Given the description of an element on the screen output the (x, y) to click on. 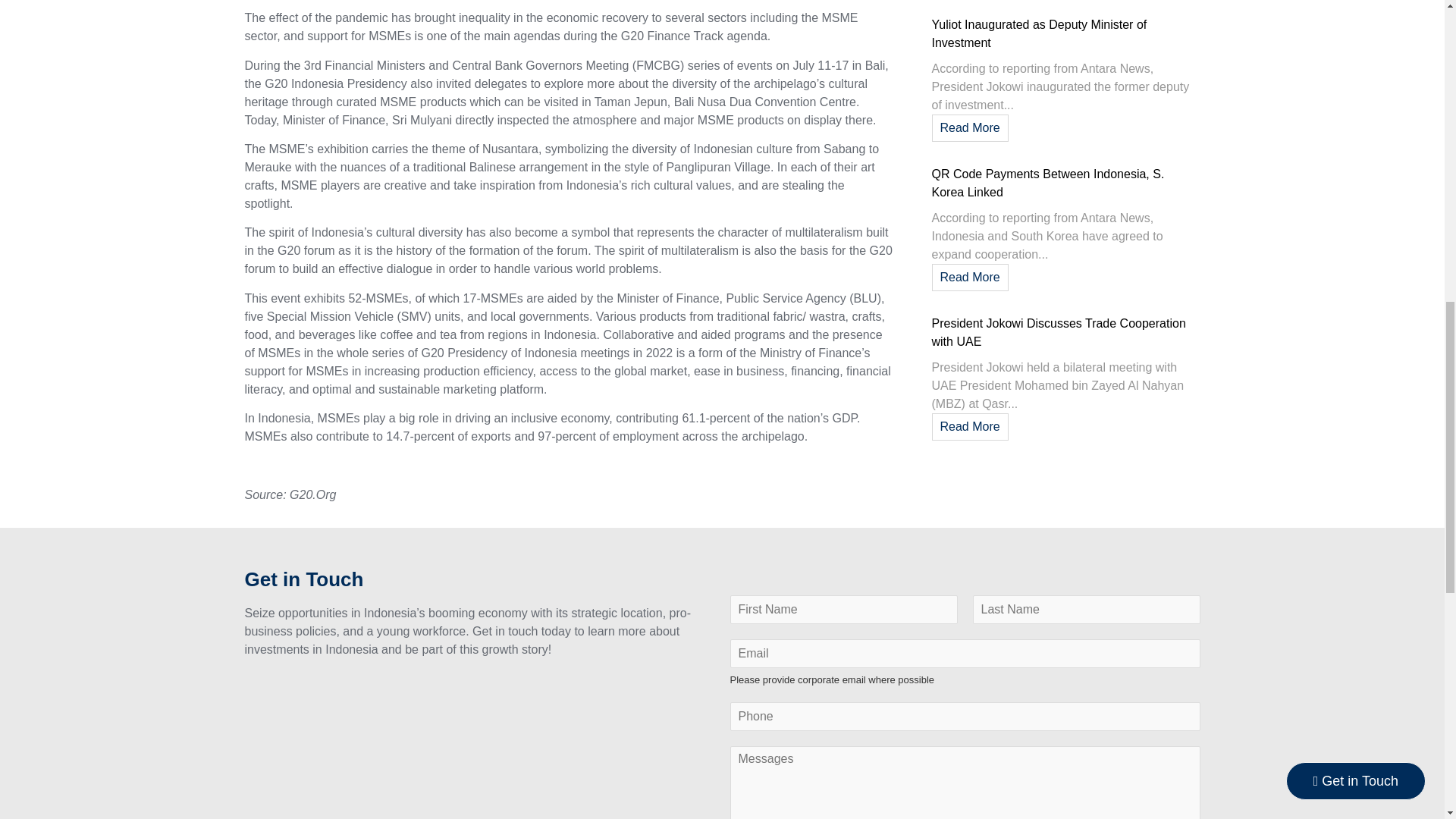
Yuliot Inaugurated as Deputy Minister of Investment (1039, 33)
President Jokowi Discusses Trade Cooperation with UAE (1058, 332)
QR Code Payments Between Indonesia, S. Korea Linked (1047, 183)
